Given the description of an element on the screen output the (x, y) to click on. 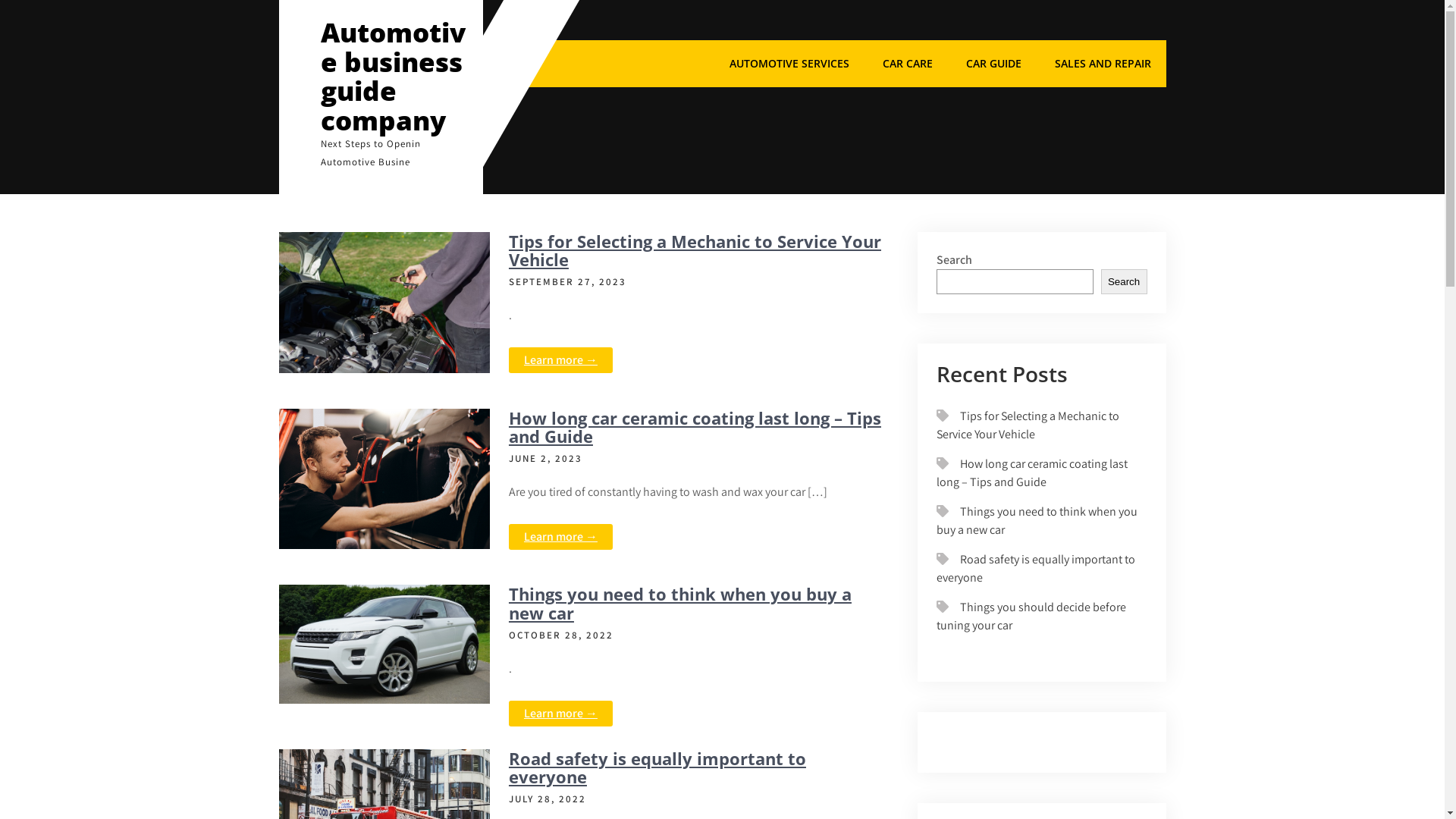
CAR CARE Element type: text (907, 63)
CAR GUIDE Element type: text (993, 63)
AUTOMOTIVE SERVICES Element type: text (789, 63)
Road safety is equally important to everyone Element type: text (657, 766)
Automotive business guide company Element type: text (392, 76)
Tips for Selecting a Mechanic to Service Your Vehicle Element type: text (1027, 424)
Things you should decide before tuning your car Element type: text (1031, 616)
Road safety is equally important to everyone Element type: text (1035, 568)
Things you need to think when you buy a new car Element type: text (679, 602)
Things you need to think when you buy a new car Element type: text (1036, 520)
Search Element type: text (1124, 281)
SALES AND REPAIR Element type: text (1101, 63)
Tips for Selecting a Mechanic to Service Your Vehicle Element type: text (694, 249)
